Given the description of an element on the screen output the (x, y) to click on. 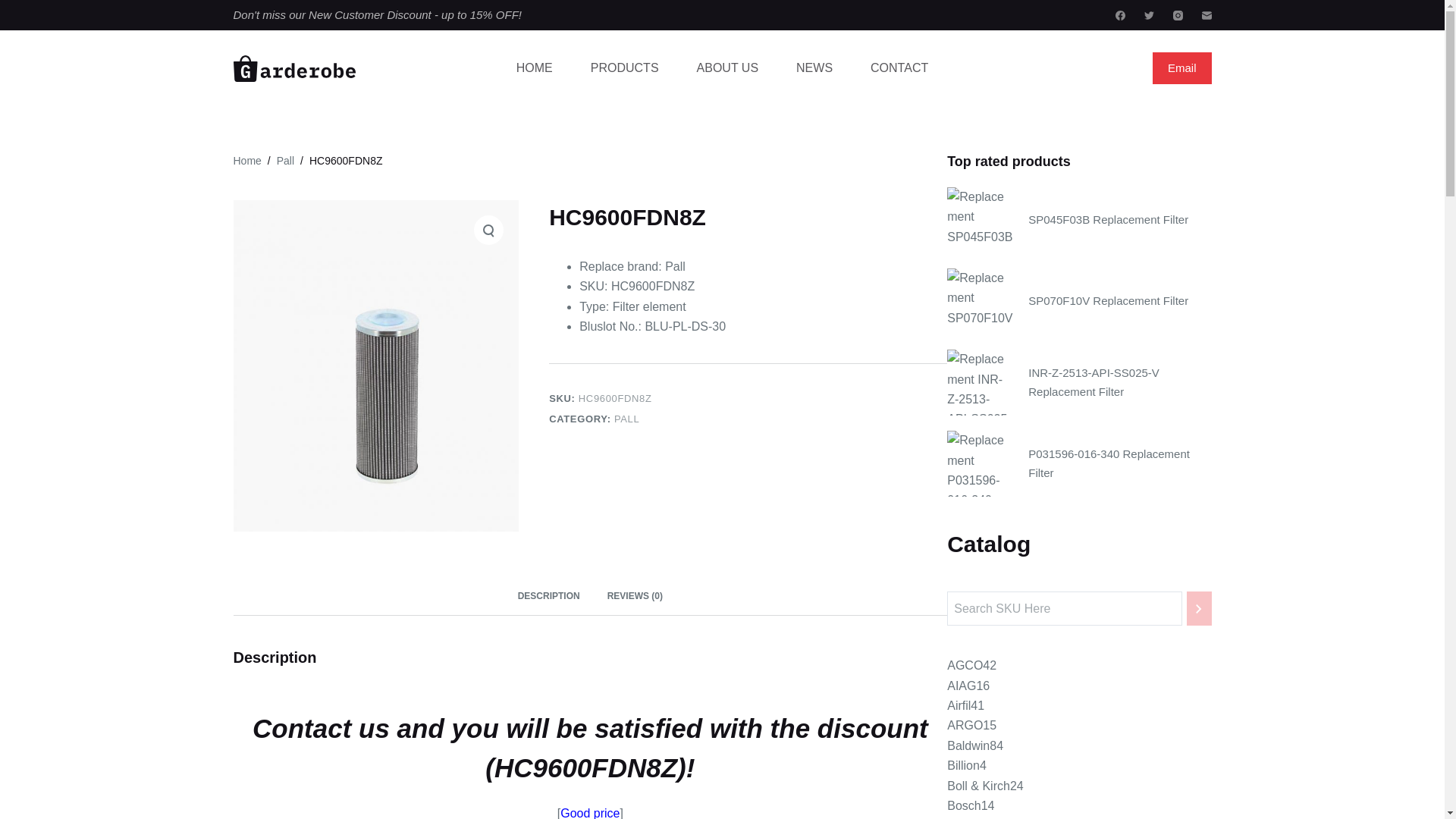
ABOUT US (727, 67)
Skip to content (15, 7)
Replacement SP045F03B (980, 220)
CONTACT (899, 67)
Replacement P031596-016-340 filter element (980, 463)
Pall (285, 160)
PRODUCTS (625, 67)
DESCRIPTION (548, 596)
NEWS (814, 67)
Email (1182, 68)
Home (247, 160)
PALL (626, 419)
Replacement SP070F10V (980, 301)
Replacement INR-Z-2513-API-SS025-V (980, 382)
HOME (534, 67)
